Given the description of an element on the screen output the (x, y) to click on. 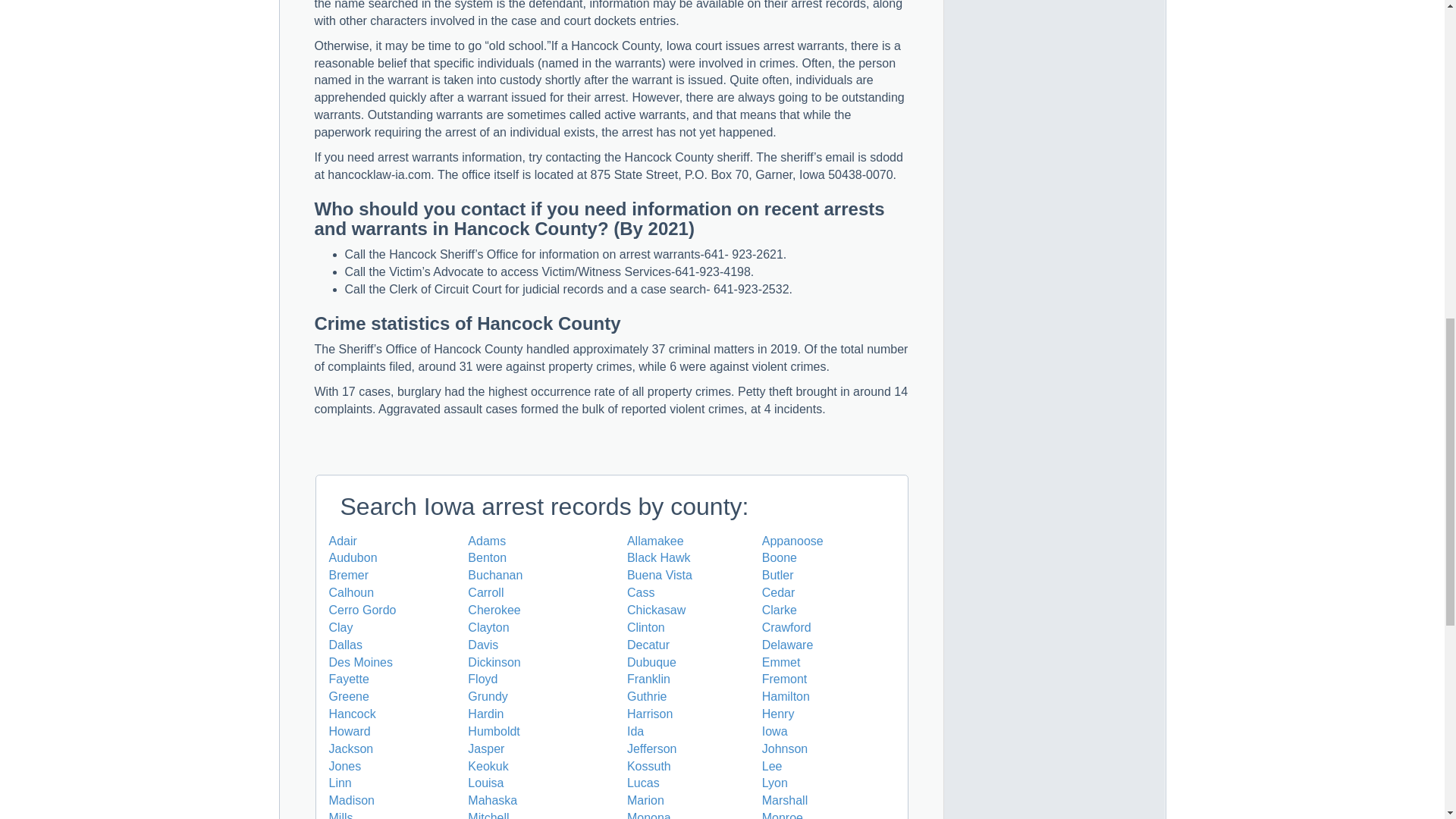
Butler (777, 574)
Dallas (345, 644)
Audubon (353, 557)
Decatur (648, 644)
Carroll (485, 592)
Bremer (348, 574)
Clarke (778, 609)
Cedar (777, 592)
Clayton (487, 626)
Davis (482, 644)
